Given the description of an element on the screen output the (x, y) to click on. 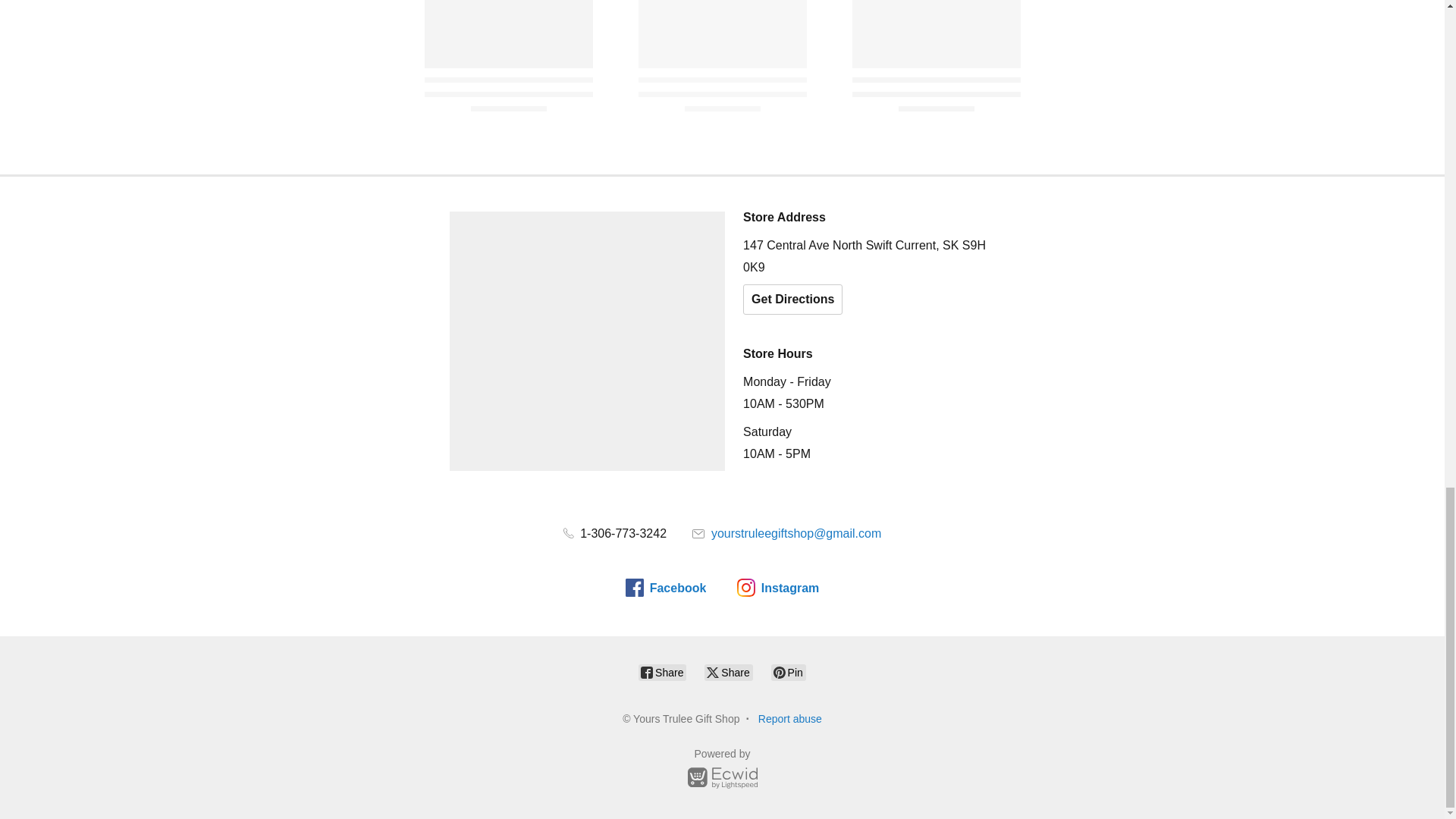
Pin (788, 672)
Share (728, 672)
Powered by (722, 770)
Get Directions (792, 299)
Report abuse (790, 718)
Facebook (666, 587)
Location on map (586, 340)
Instagram (777, 587)
Share (662, 672)
1-306-773-3242 (614, 533)
